Given the description of an element on the screen output the (x, y) to click on. 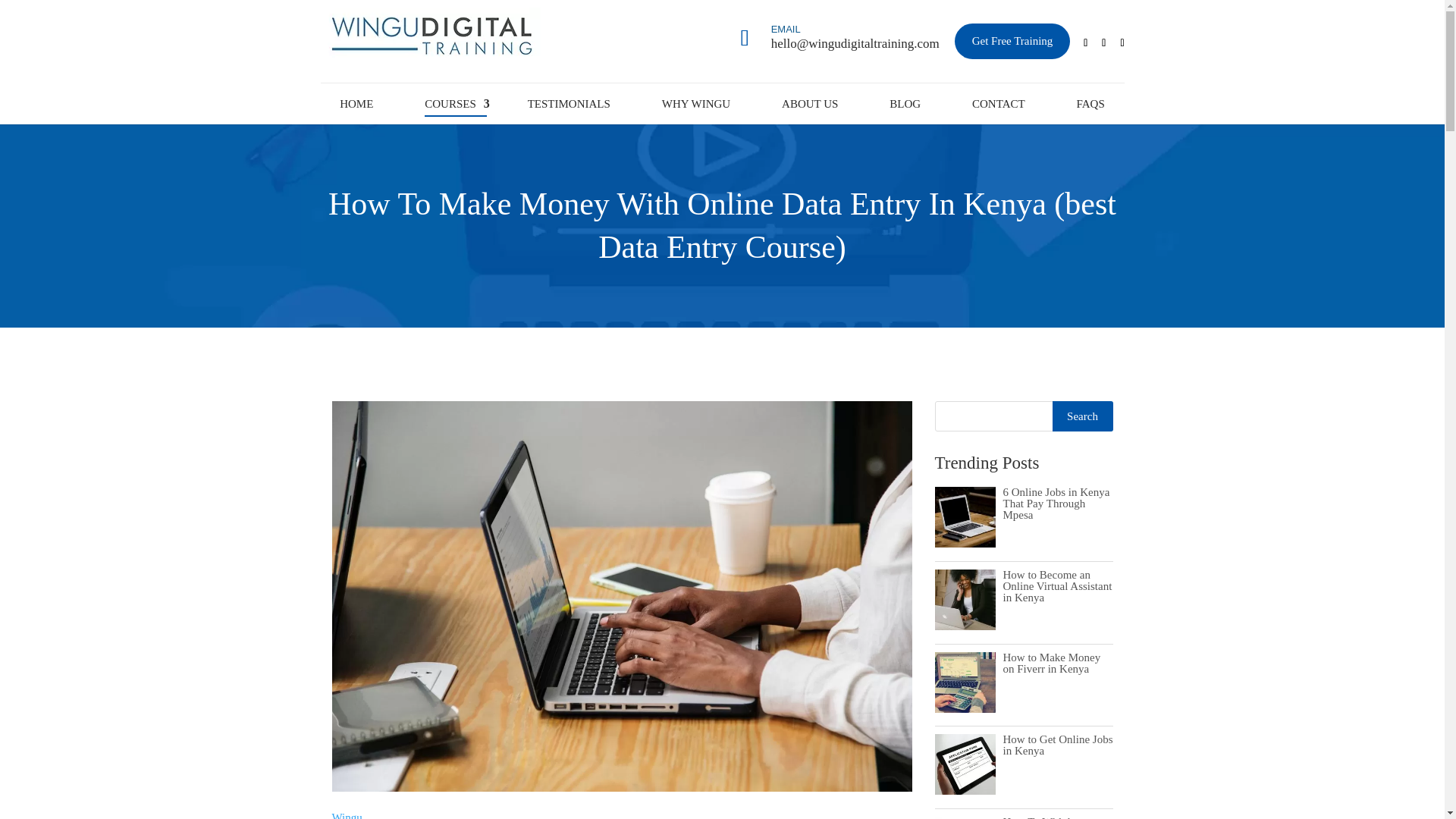
FAQS (1091, 103)
ABOUT US (809, 103)
WHY WINGU (696, 103)
CONTACT (998, 103)
BLOG (904, 103)
Posts by Wingu (346, 815)
HOME (355, 103)
Search (1082, 416)
TESTIMONIALS (568, 103)
COURSES (450, 103)
